Given the description of an element on the screen output the (x, y) to click on. 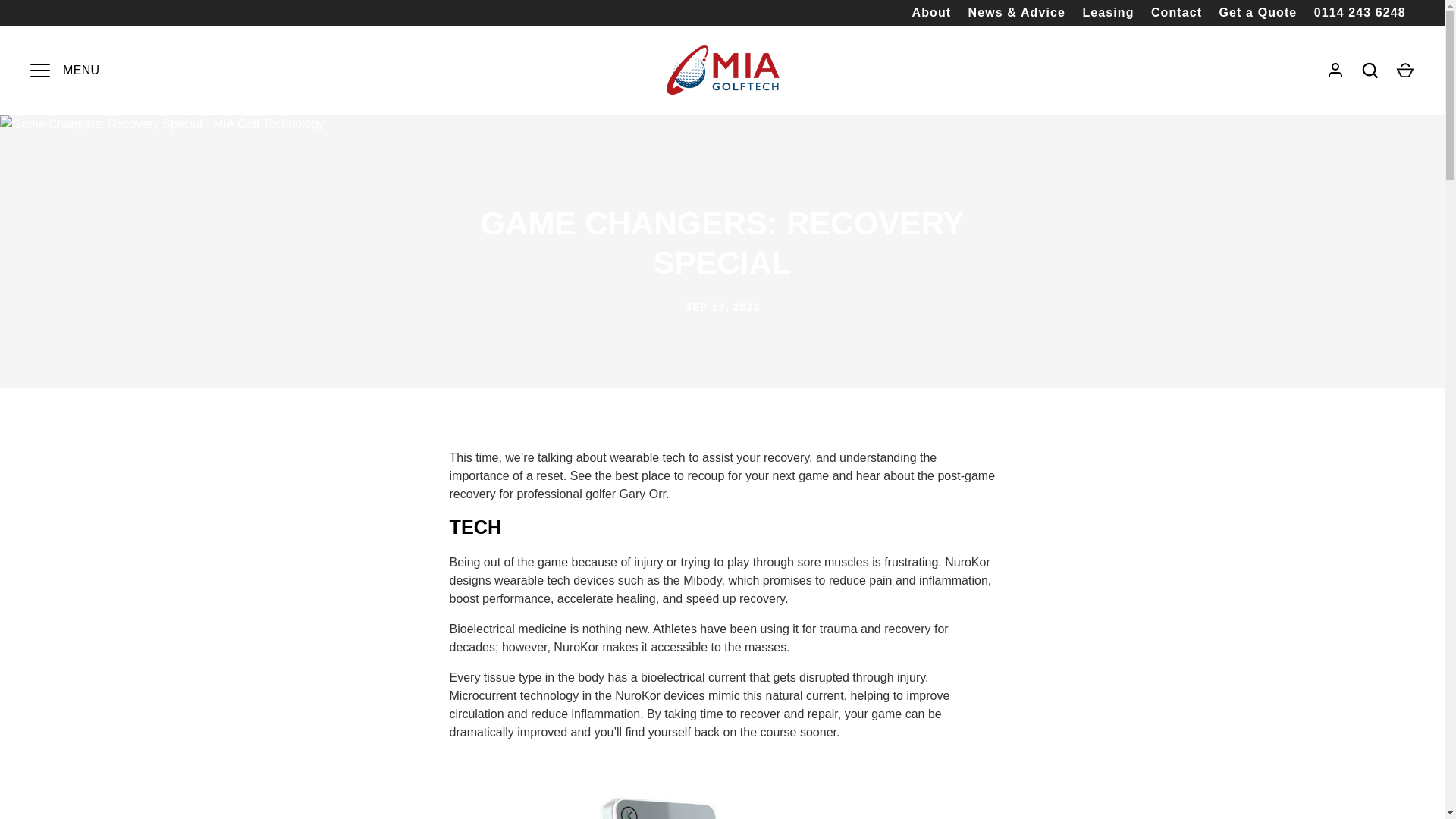
About (930, 13)
Get a Quote (1256, 13)
Contact (1176, 13)
Leasing (1108, 13)
